Given the description of an element on the screen output the (x, y) to click on. 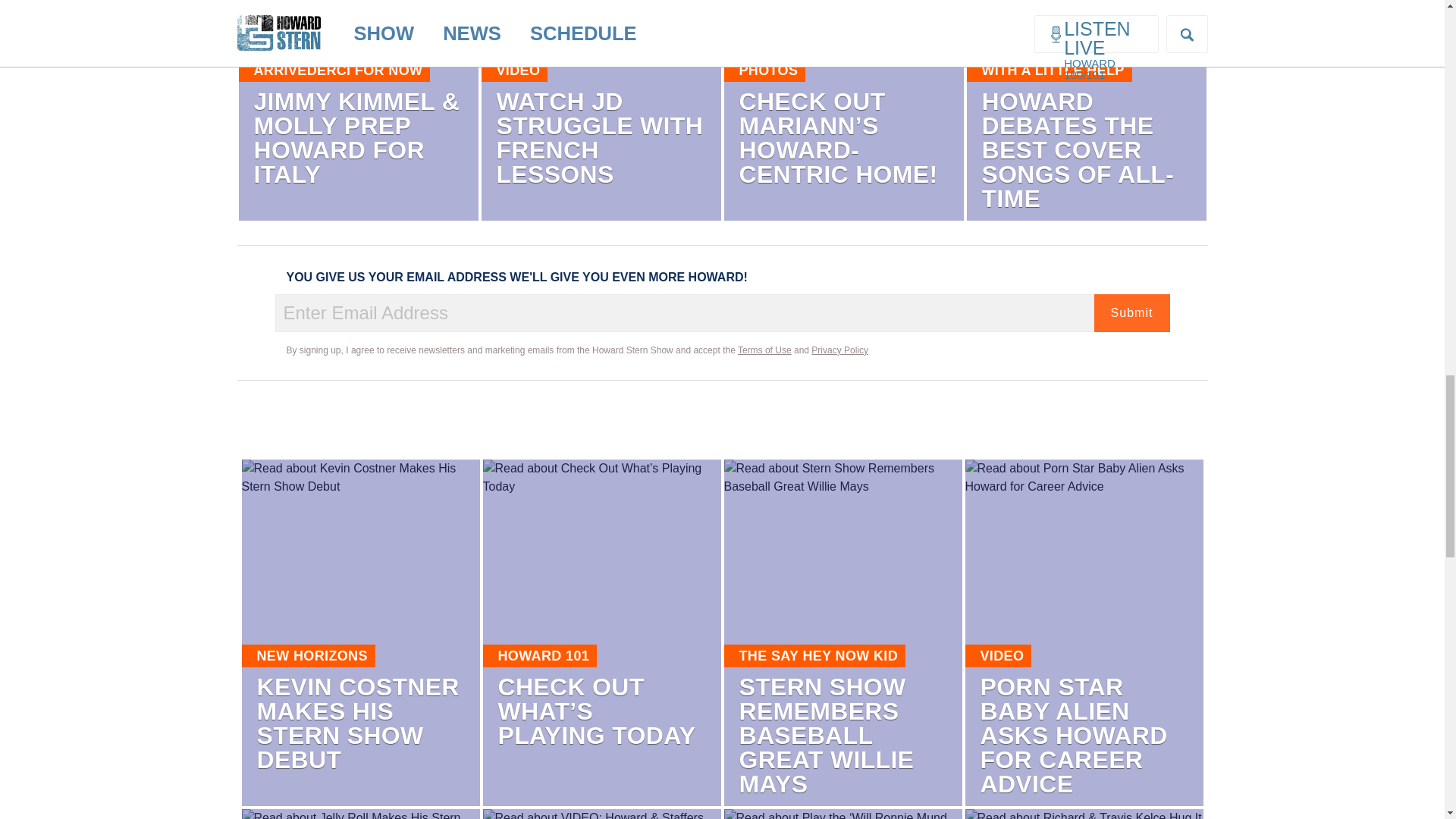
Privacy Policy (838, 349)
KEVIN COSTNER MAKES HIS STERN SHOW DEBUT (357, 723)
Terms of Use (765, 349)
WATCH JD STRUGGLE WITH FRENCH LESSONS (599, 137)
STERN SHOW REMEMBERS BASEBALL GREAT WILLIE MAYS (826, 735)
PORN STAR BABY ALIEN ASKS HOWARD FOR CAREER ADVICE (1073, 735)
HOWARD DEBATES THE BEST COVER SONGS OF ALL-TIME (1077, 149)
Submit (1131, 313)
